Given the description of an element on the screen output the (x, y) to click on. 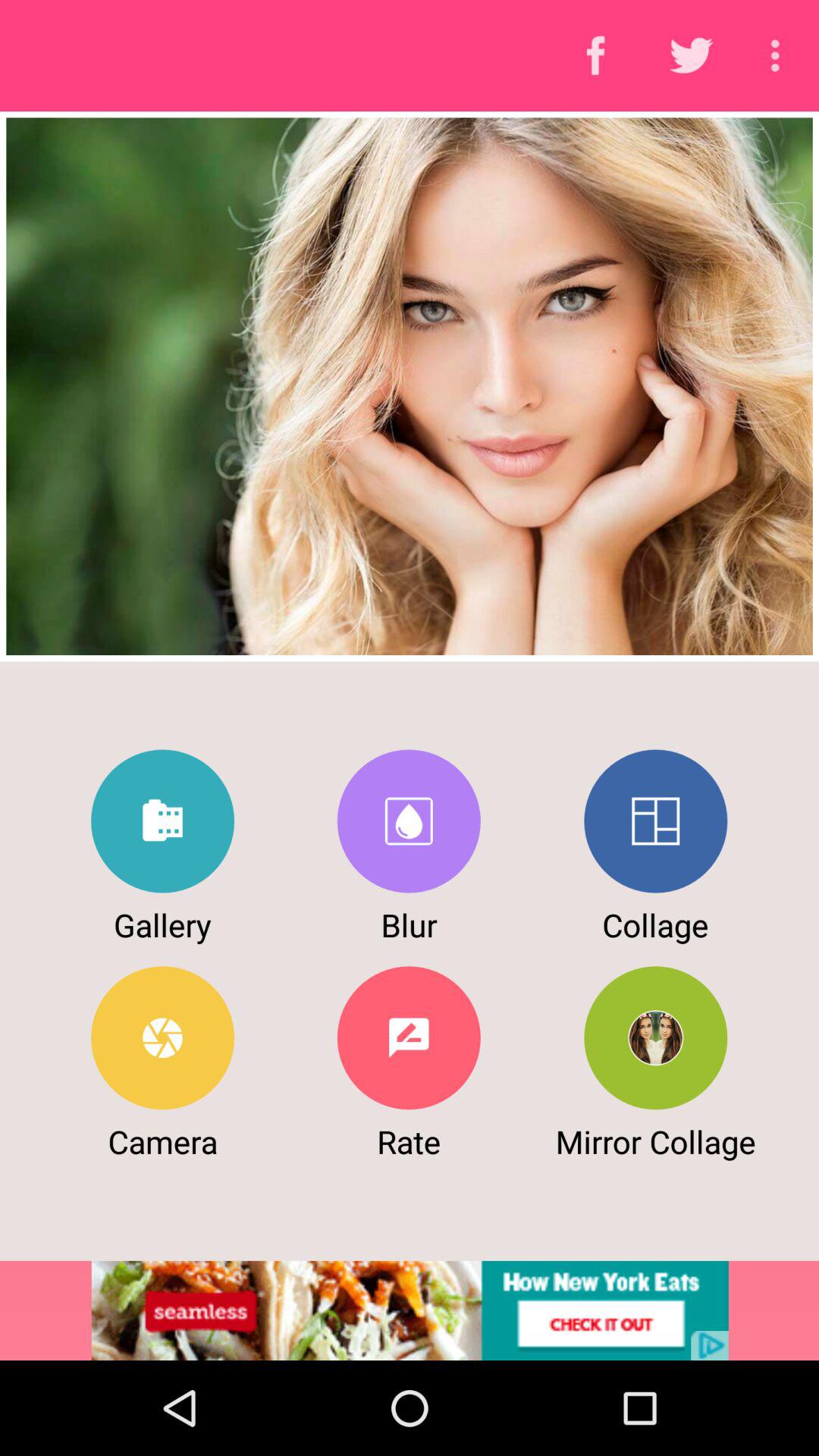
select the collage option (655, 820)
